Given the description of an element on the screen output the (x, y) to click on. 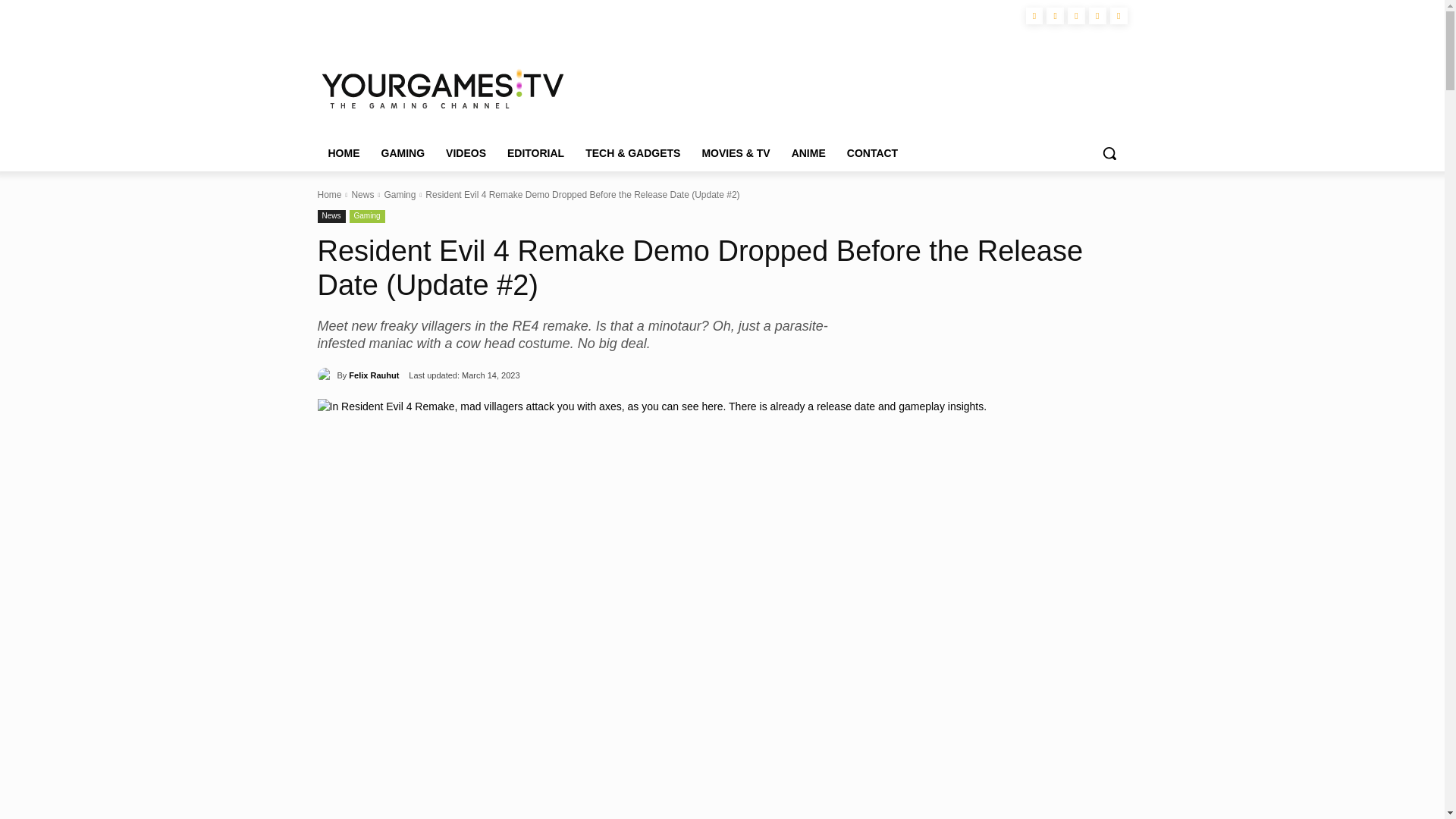
VIDEOS (465, 153)
Discord (1034, 16)
GAMING (402, 153)
Twitch (1075, 16)
Twitter (1097, 16)
Facebook (1055, 16)
Youtube (1117, 16)
EDITORIAL (535, 153)
HOME (343, 153)
CONTACT (871, 153)
ANIME (807, 153)
